Given the description of an element on the screen output the (x, y) to click on. 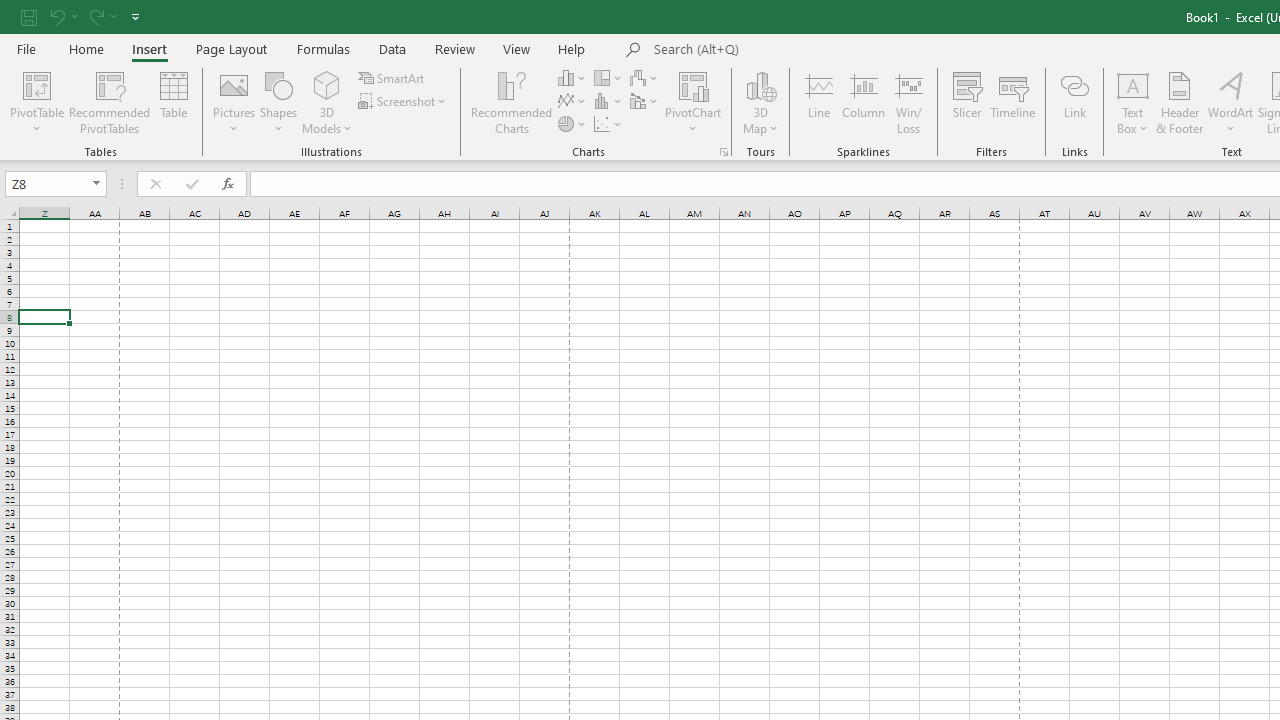
Insert Pie or Doughnut Chart (573, 124)
PivotChart (693, 102)
Insert Waterfall, Funnel, Stock, Surface, or Radar Chart (645, 78)
Insert Column or Bar Chart (573, 78)
3D Models (326, 84)
Recommended PivotTables (109, 102)
3D Map (760, 102)
Table (173, 102)
PivotTable (36, 102)
